Given the description of an element on the screen output the (x, y) to click on. 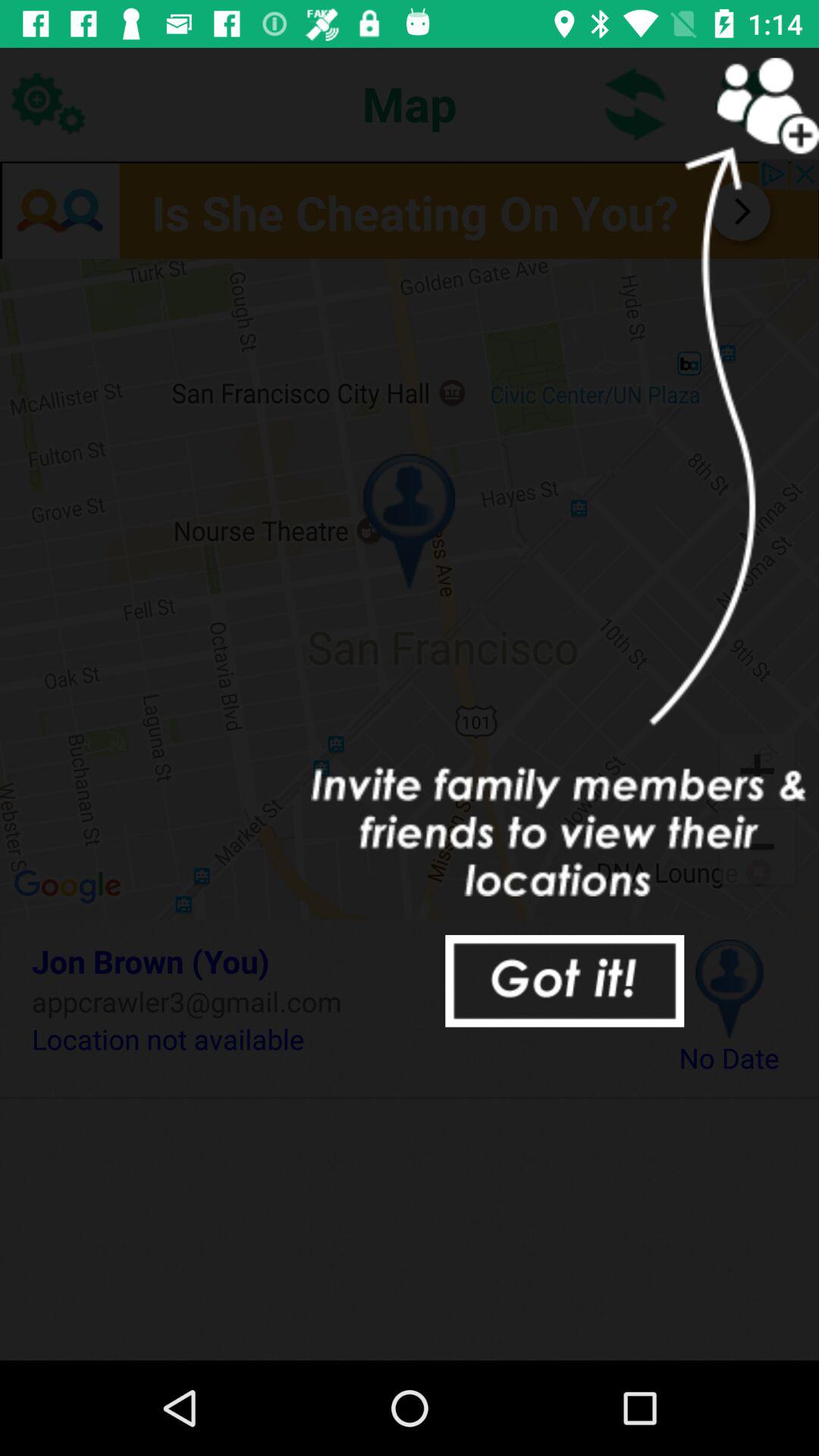
invite others (751, 103)
